Given the description of an element on the screen output the (x, y) to click on. 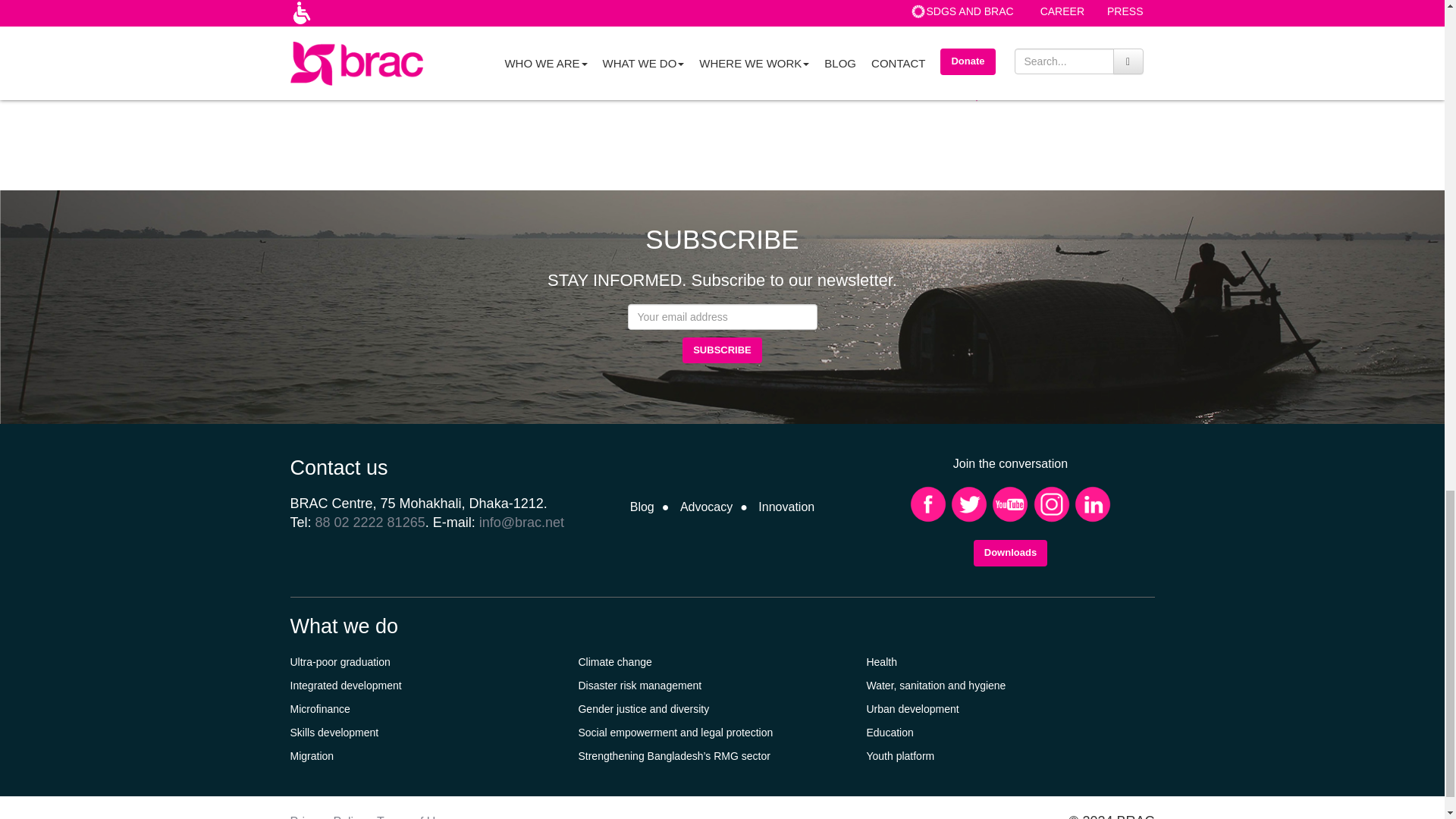
Subscribe (721, 350)
